Given the description of an element on the screen output the (x, y) to click on. 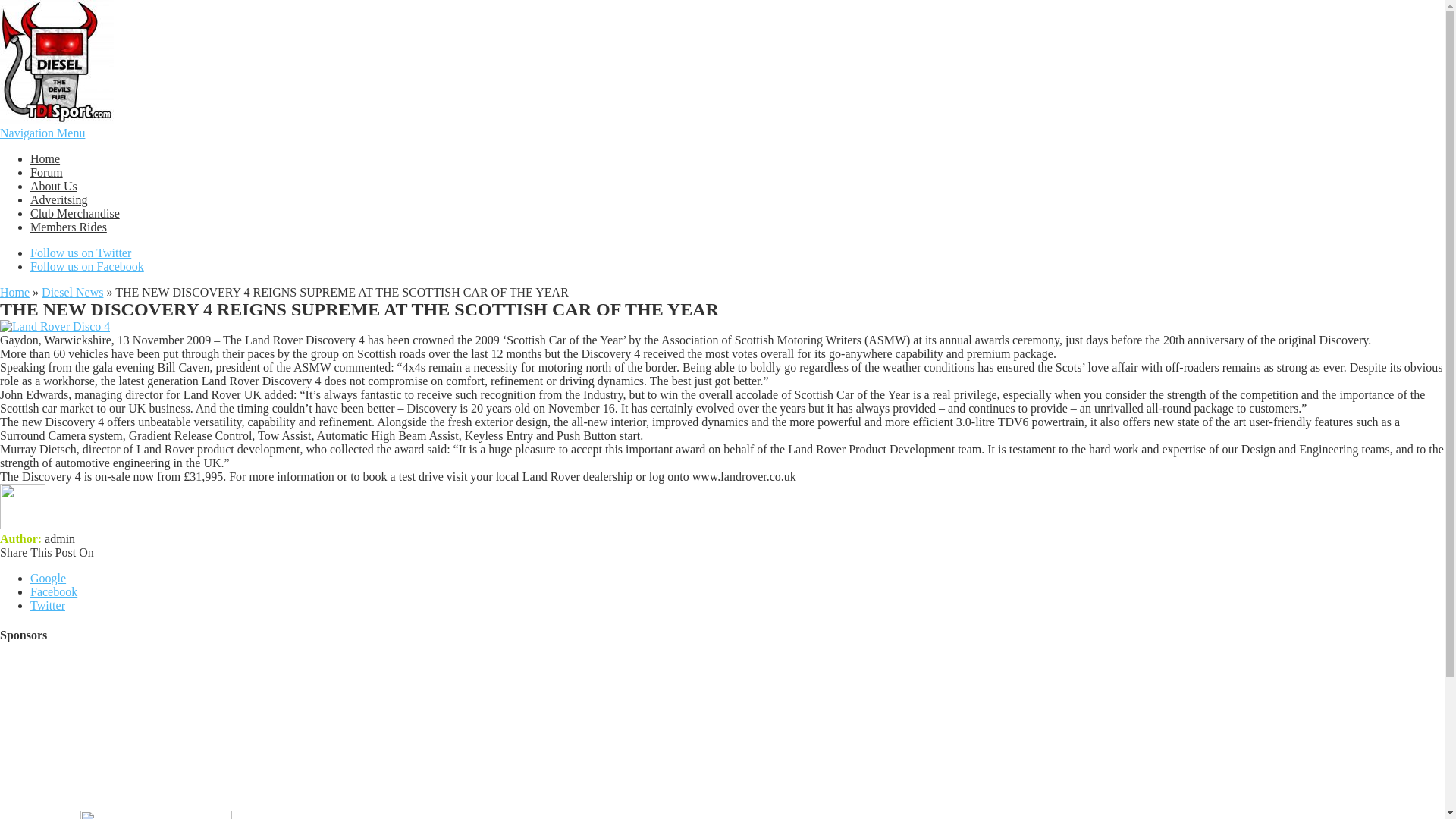
Diesel News (72, 291)
Navigation Menu (42, 132)
Follow us on Facebook (87, 266)
Land Rover Disco 4 (55, 326)
Club Merchandise (74, 213)
Forum (46, 172)
Follow us on Twitter (80, 252)
About Us (53, 185)
Google (47, 577)
Home (14, 291)
